Given the description of an element on the screen output the (x, y) to click on. 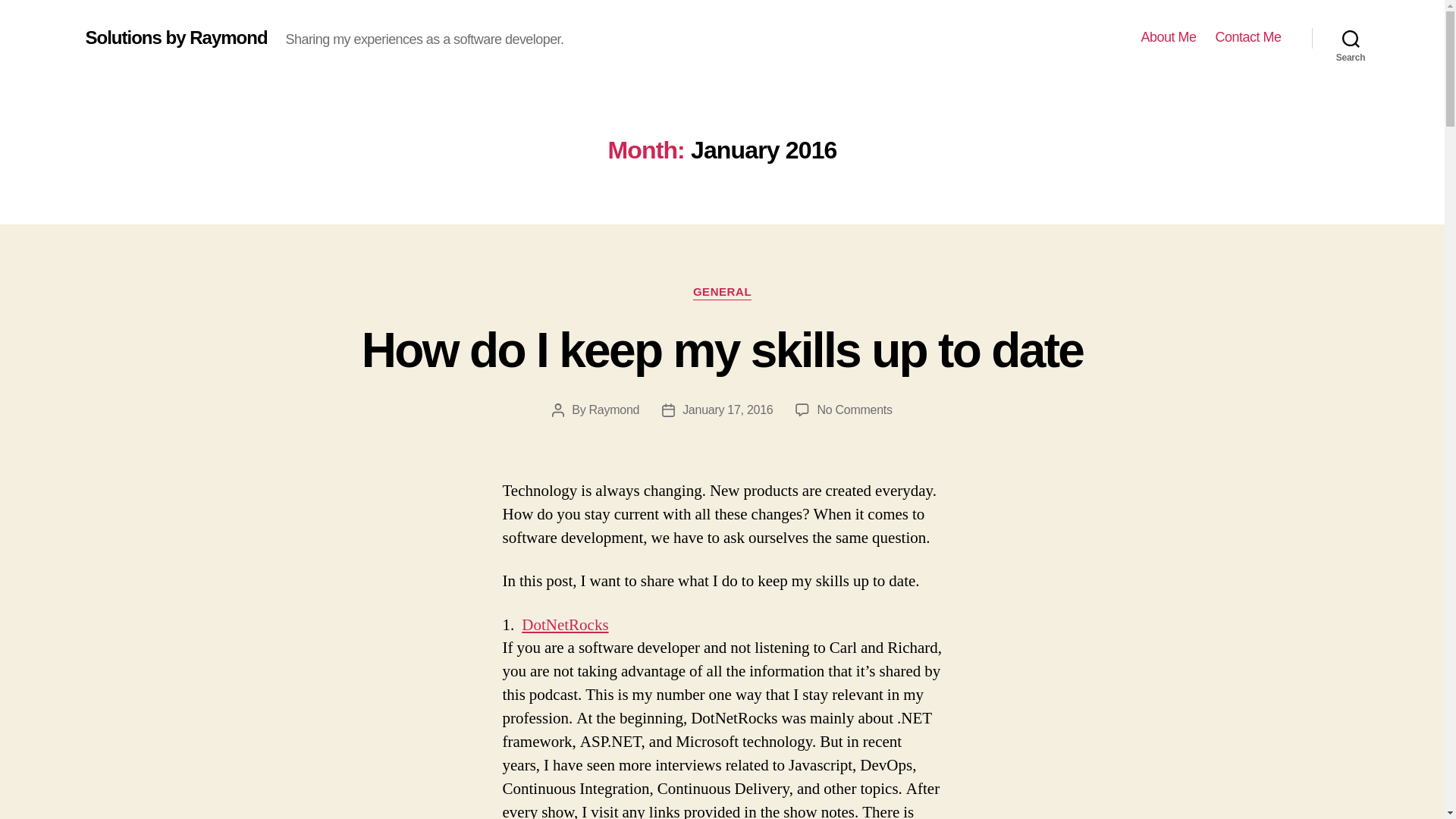
About Me (1167, 37)
Contact Me (1247, 37)
Search (1350, 37)
DotNetRocks (564, 624)
GENERAL (722, 292)
Raymond (614, 409)
January 17, 2016 (727, 409)
Solutions by Raymond (853, 409)
How do I keep my skills up to date (175, 37)
